Given the description of an element on the screen output the (x, y) to click on. 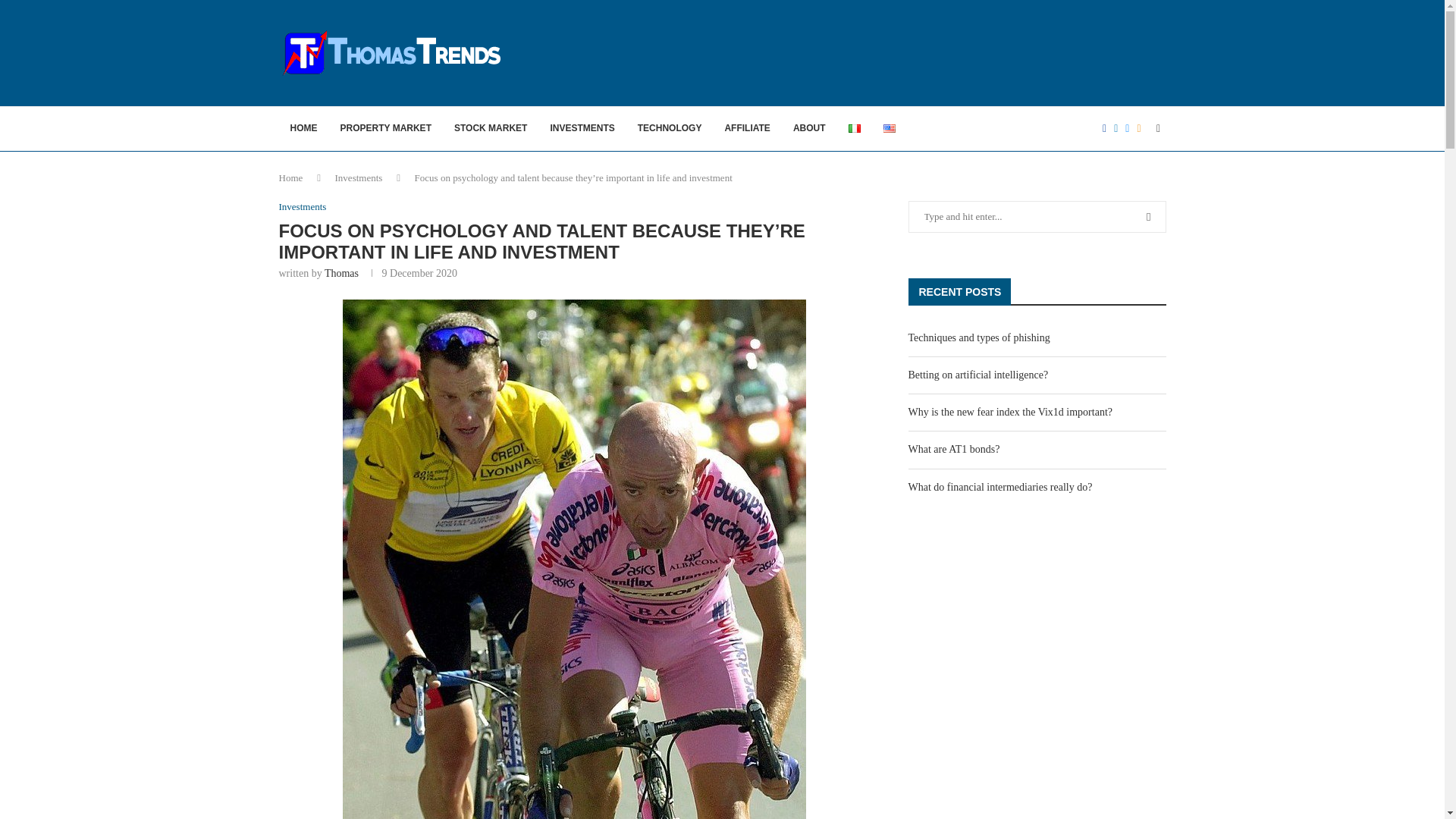
TECHNOLOGY (669, 128)
AFFILIATE (746, 128)
Investments (358, 177)
STOCK MARKET (490, 128)
HOME (304, 128)
ABOUT (809, 128)
Investments (302, 206)
Home (290, 177)
PROPERTY MARKET (385, 128)
INVESTMENTS (582, 128)
Thomas (341, 273)
